Given the description of an element on the screen output the (x, y) to click on. 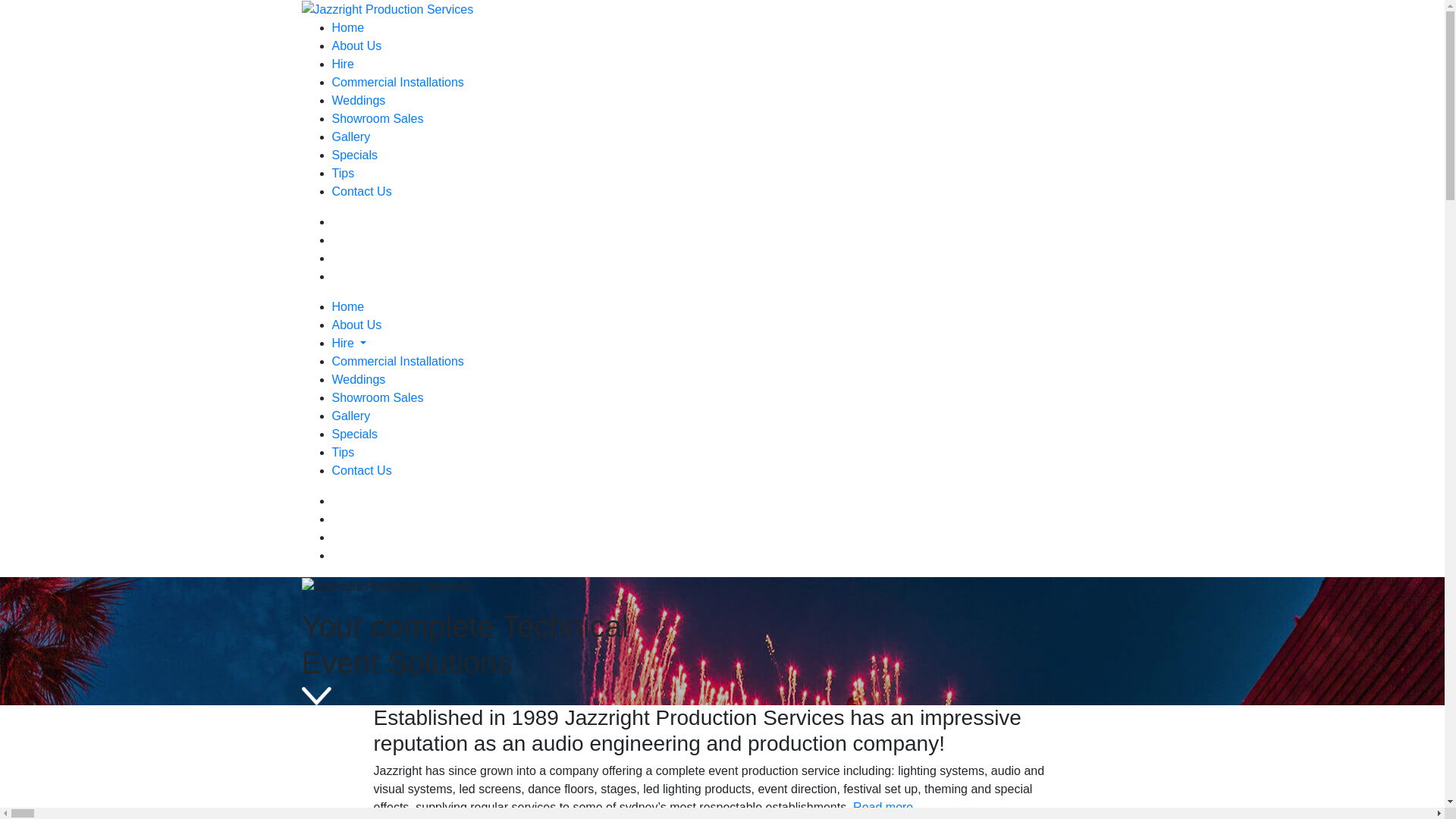
Tips Element type: text (343, 451)
Commercial Installations Element type: text (398, 81)
Gallery Element type: text (351, 136)
Home Element type: text (348, 27)
Weddings Element type: text (358, 100)
Read more Element type: text (883, 806)
Tips Element type: text (343, 172)
Specials Element type: text (354, 433)
Commercial Installations Element type: text (398, 360)
About Us Element type: text (357, 324)
Contact Us Element type: text (362, 470)
Gallery Element type: text (351, 415)
Weddings Element type: text (358, 379)
Contact Us Element type: text (362, 191)
Showroom Sales Element type: text (377, 397)
Hire Element type: text (343, 63)
Hire Element type: text (343, 342)
Specials Element type: text (354, 154)
Showroom Sales Element type: text (377, 118)
Home Element type: text (348, 306)
About Us Element type: text (357, 45)
